Given the description of an element on the screen output the (x, y) to click on. 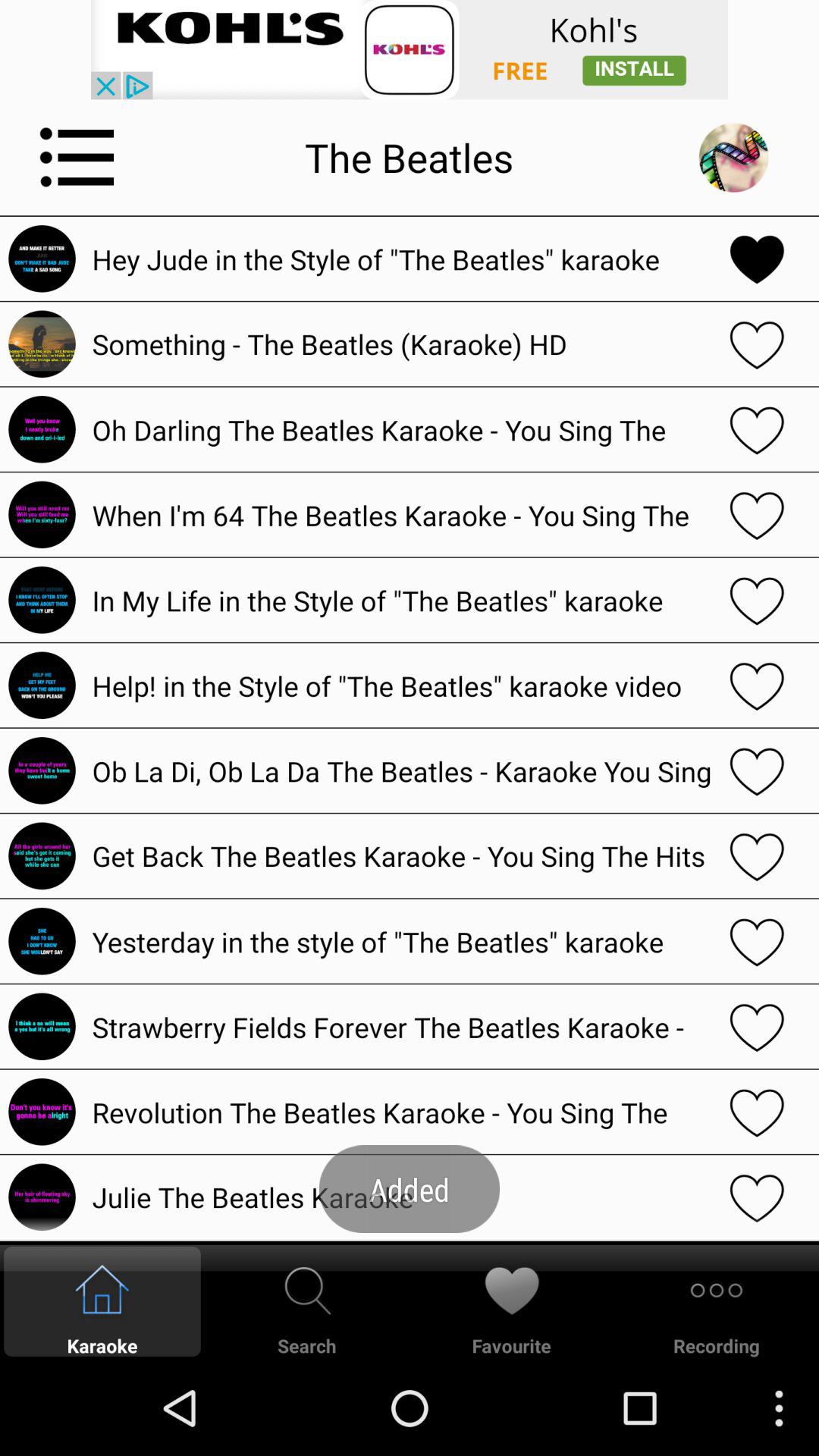
favorite the selected song (756, 514)
